Given the description of an element on the screen output the (x, y) to click on. 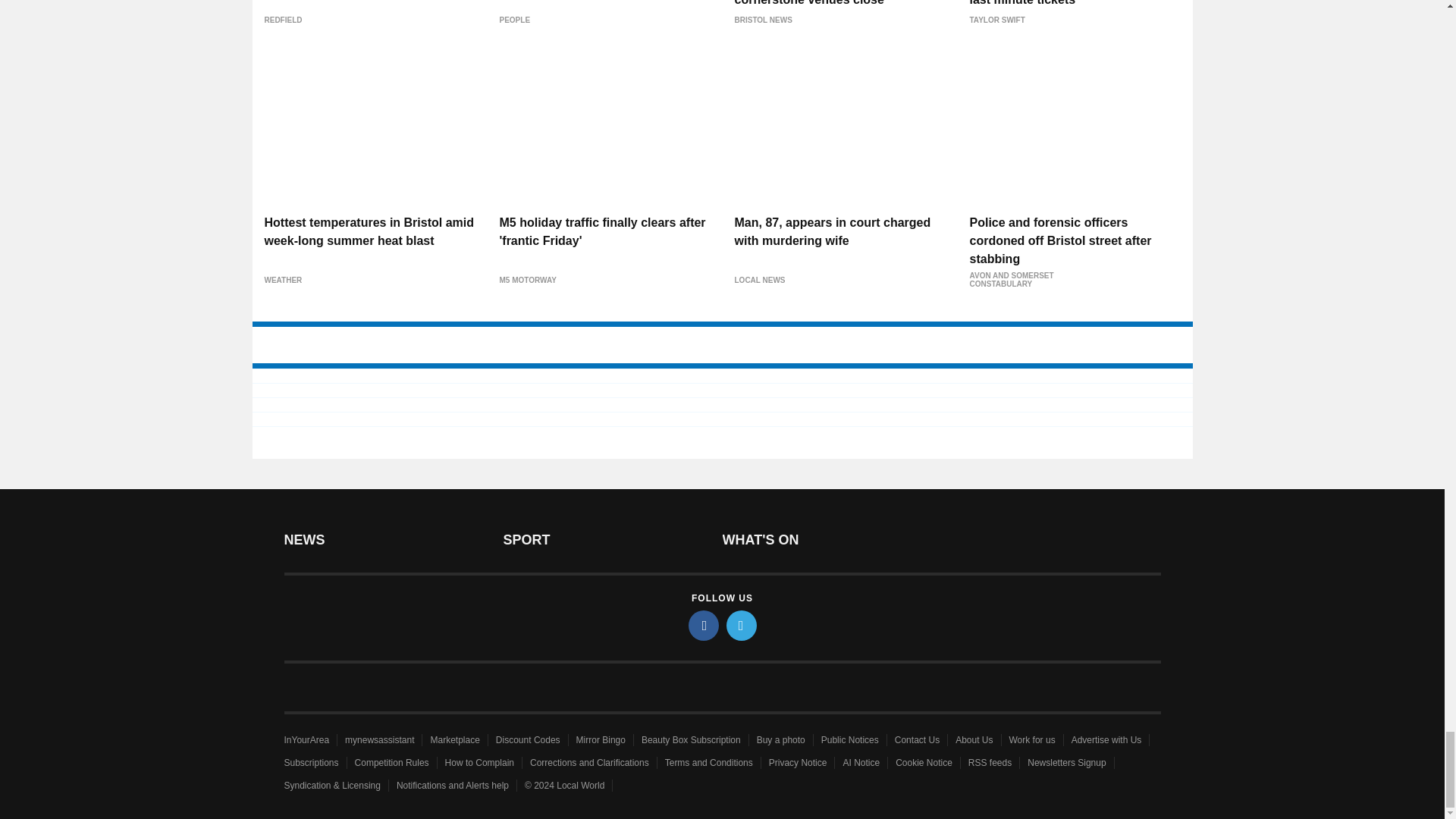
facebook (703, 625)
twitter (741, 625)
